Given the description of an element on the screen output the (x, y) to click on. 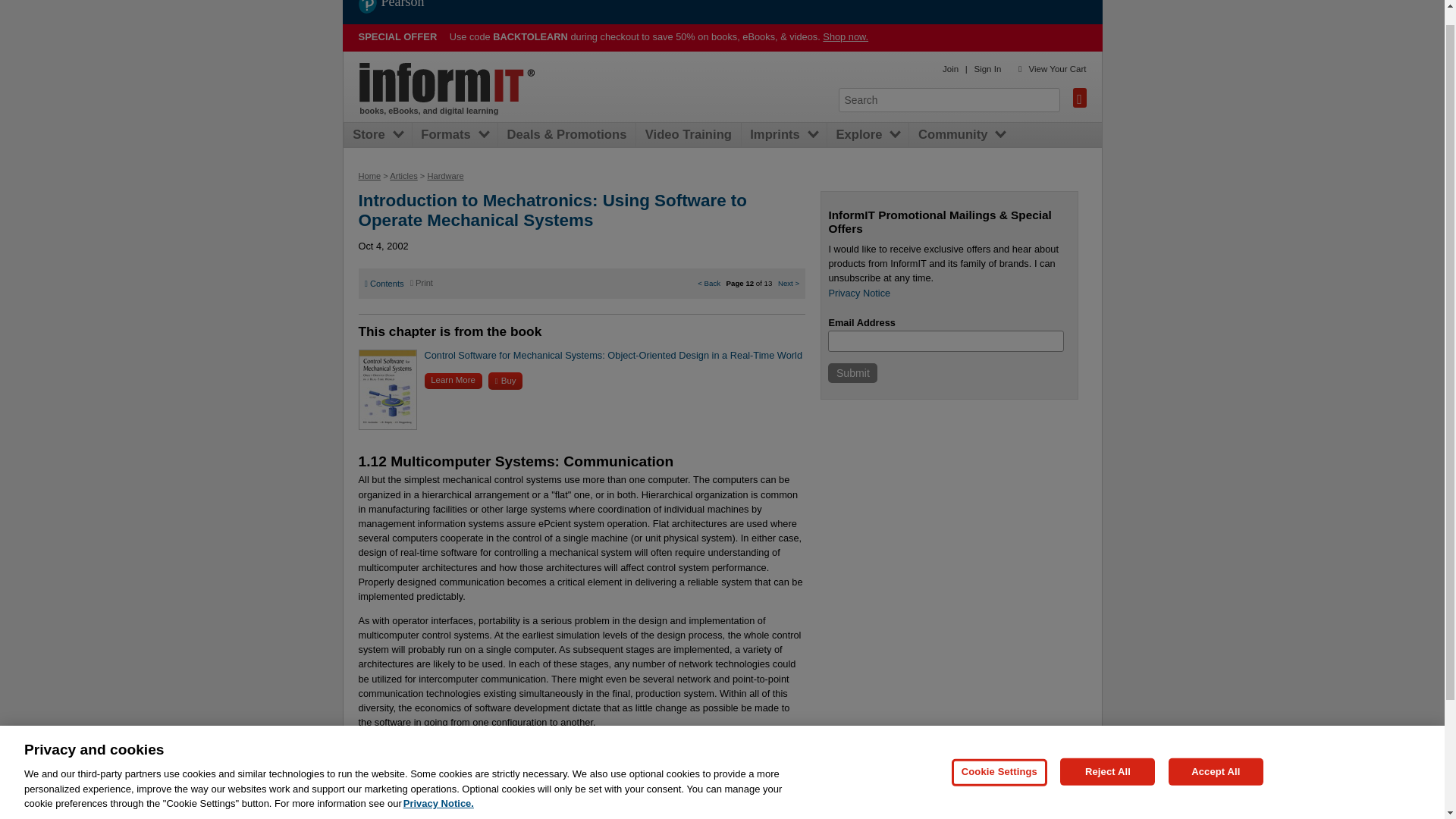
Articles (403, 175)
Hardware (444, 175)
Shop now. (844, 36)
Submit (852, 373)
View Your Cart (1057, 68)
Home (446, 82)
Privacy Notice (858, 292)
Print (421, 282)
Learn More (453, 381)
